Given the description of an element on the screen output the (x, y) to click on. 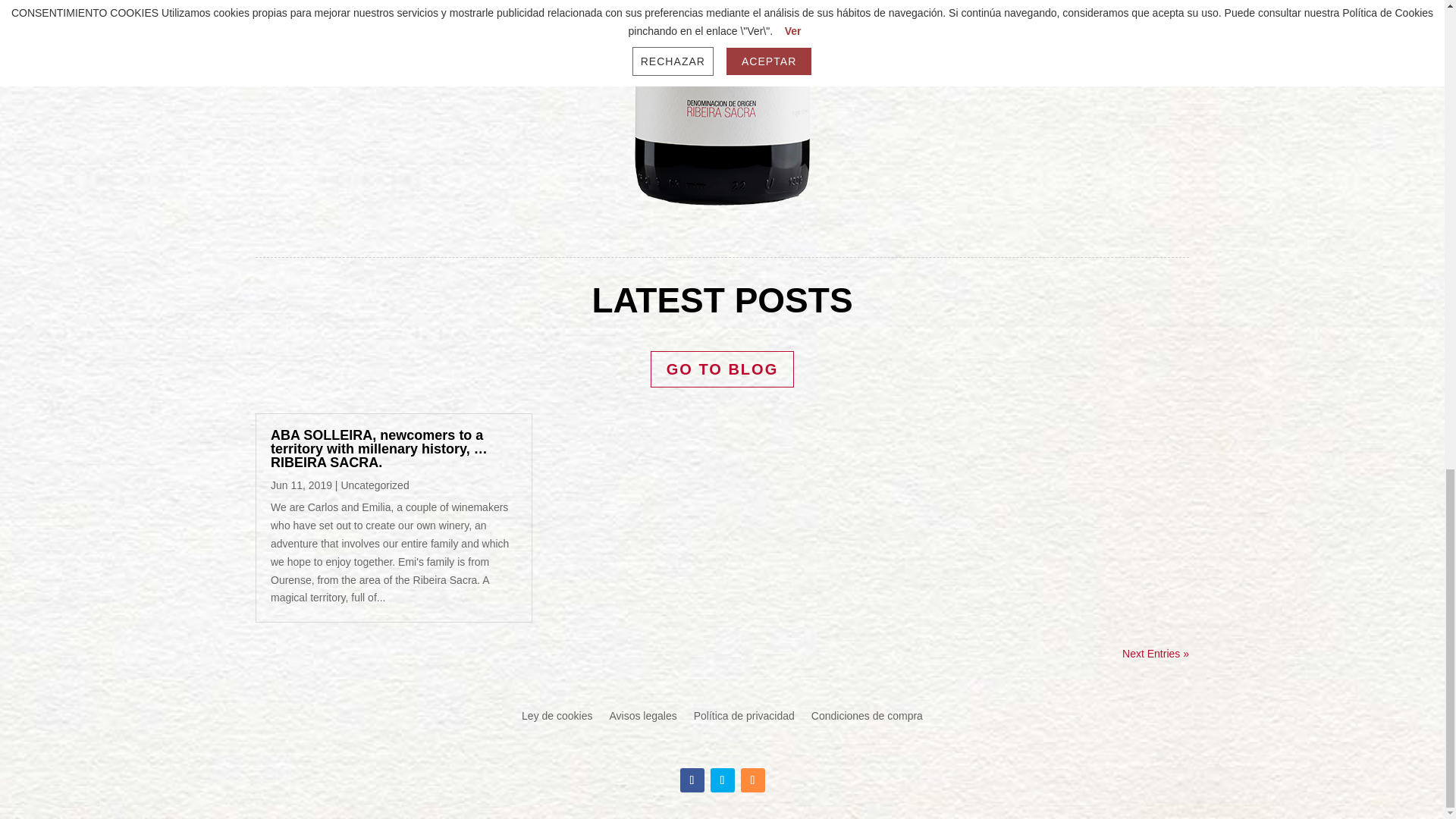
Ley de cookies (556, 718)
Follow on RSS (751, 780)
Follow on Twitter (721, 780)
Condiciones de compra (866, 718)
WE SPEAK? (1010, 19)
Uncategorized (374, 485)
GO TO BLOG (721, 369)
Follow on Facebook (691, 780)
aba-solleira-Mencia-2019-y-2020 (721, 104)
Avisos legales (642, 718)
